Given the description of an element on the screen output the (x, y) to click on. 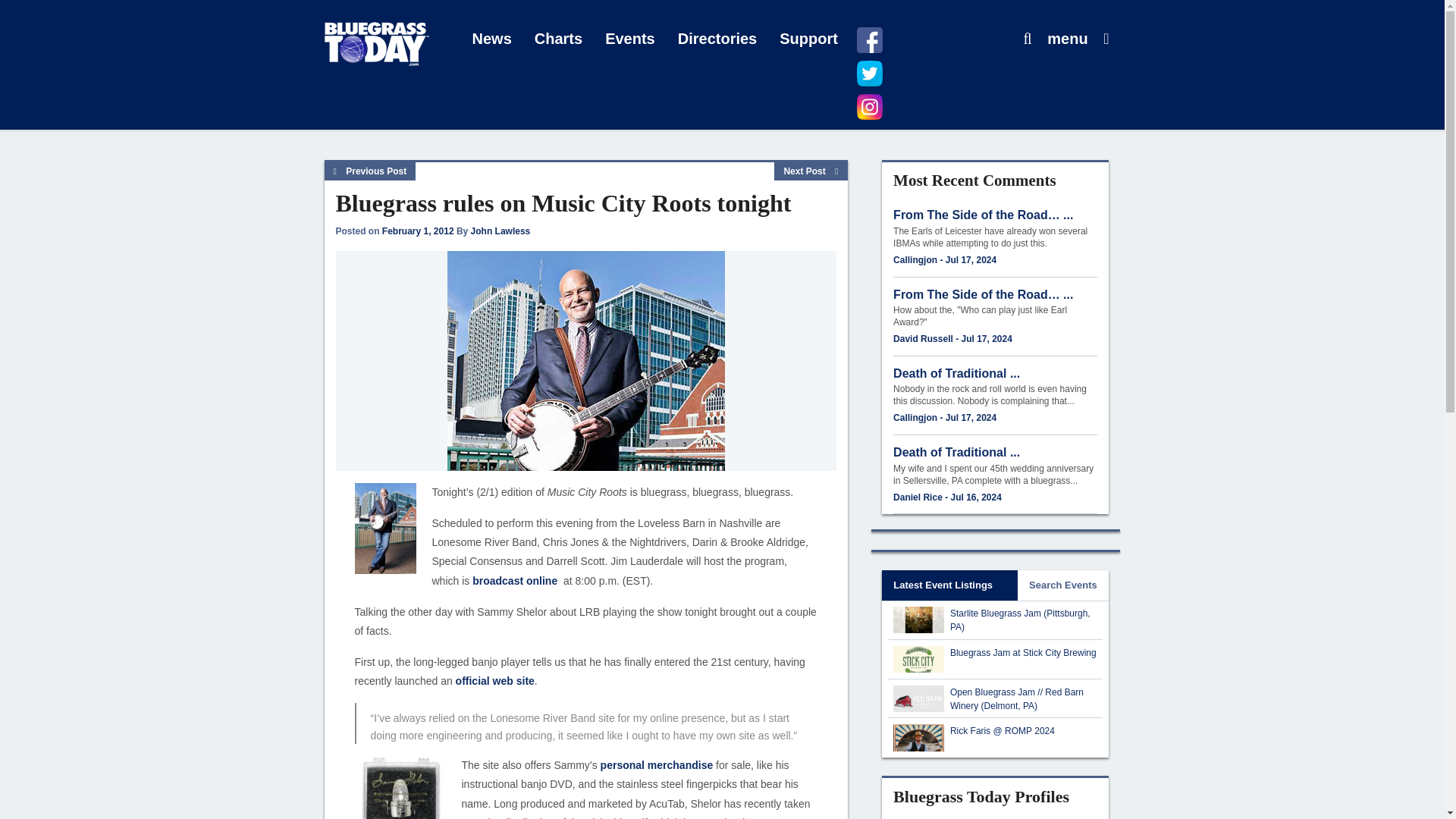
Events (630, 39)
Directories (717, 39)
John Lawless (500, 231)
Support (808, 39)
News (491, 39)
Visit Sammy Shelor online (494, 680)
broadcast online (514, 580)
Sammy Shelor (385, 528)
Check out Sammy's mercy online (656, 765)
Watch Music City Roots live online (514, 580)
Charts (558, 39)
February 1, 2012 (417, 231)
personal merchandise (656, 765)
official web site (494, 680)
Sammy Shelor stainless steel fingerpicks (400, 787)
